Given the description of an element on the screen output the (x, y) to click on. 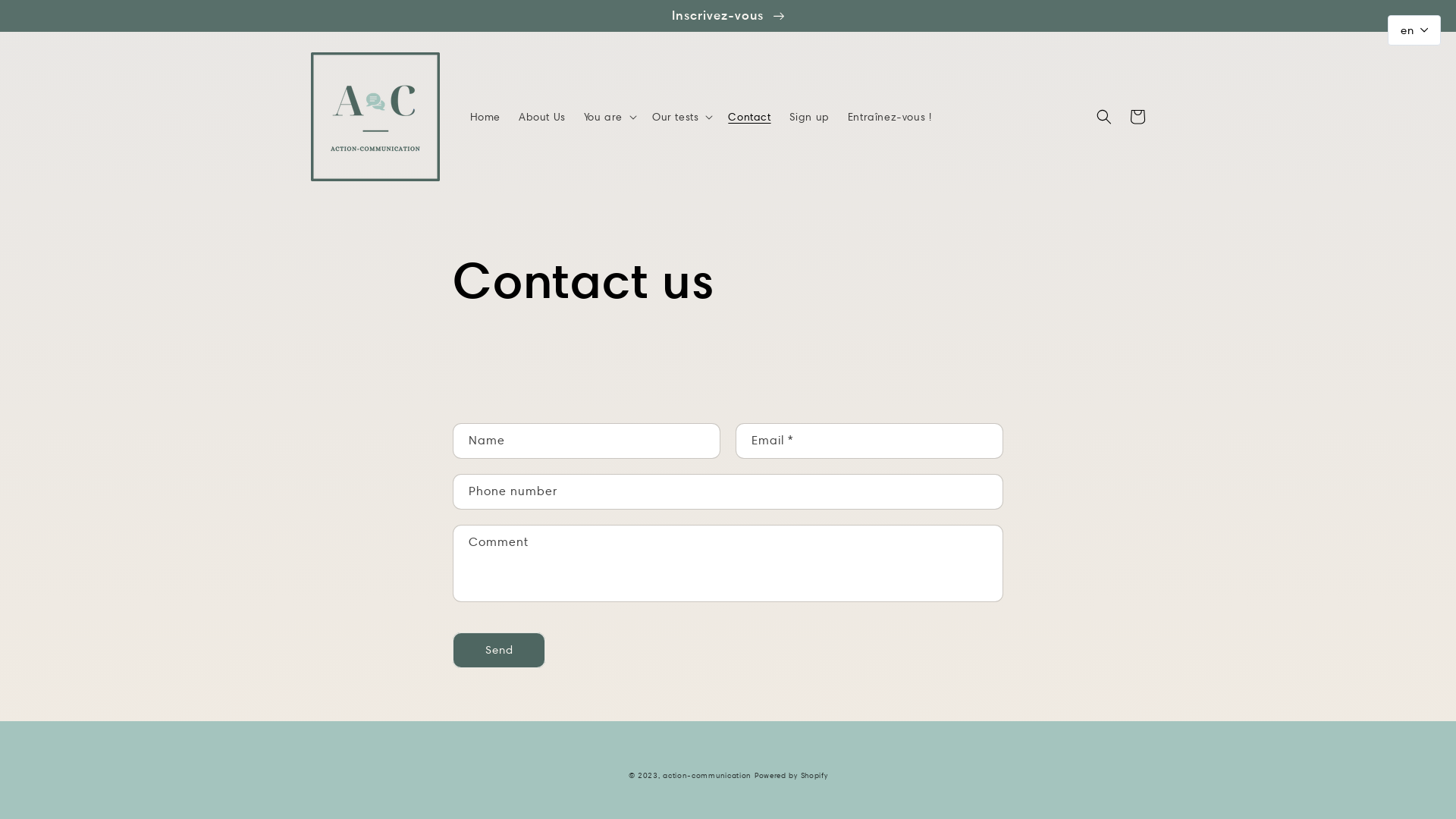
Home Element type: text (485, 116)
Cart Element type: text (1137, 116)
action-communication Element type: text (706, 775)
Sign up Element type: text (809, 116)
en Element type: text (1413, 30)
Send Element type: text (498, 650)
Contact Element type: text (748, 116)
Powered by Shopify Element type: text (791, 775)
About Us Element type: text (541, 116)
